Given the description of an element on the screen output the (x, y) to click on. 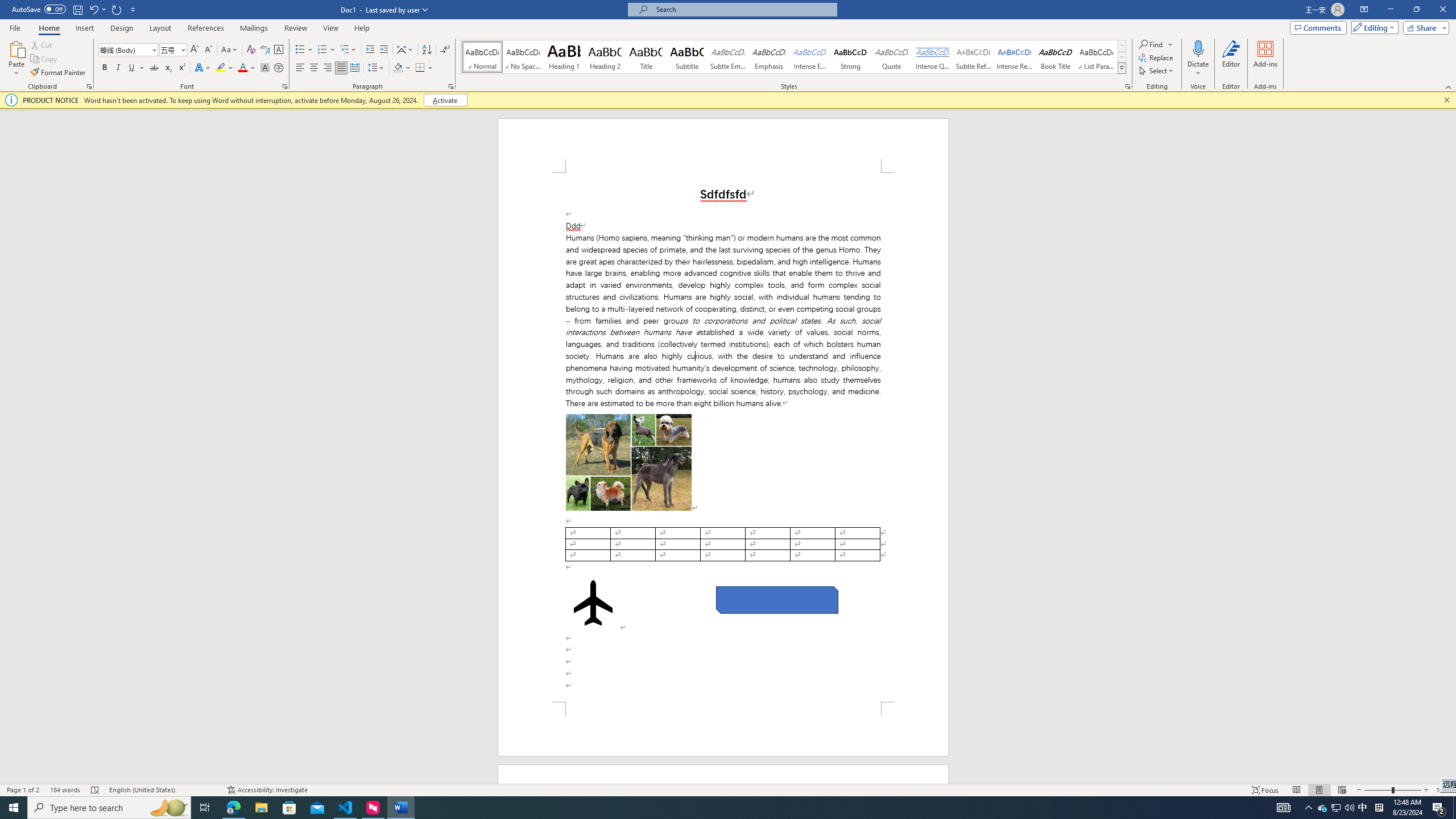
Intense Emphasis (809, 56)
Intense Reference (1014, 56)
Strong (849, 56)
Undo Italic (92, 9)
